Given the description of an element on the screen output the (x, y) to click on. 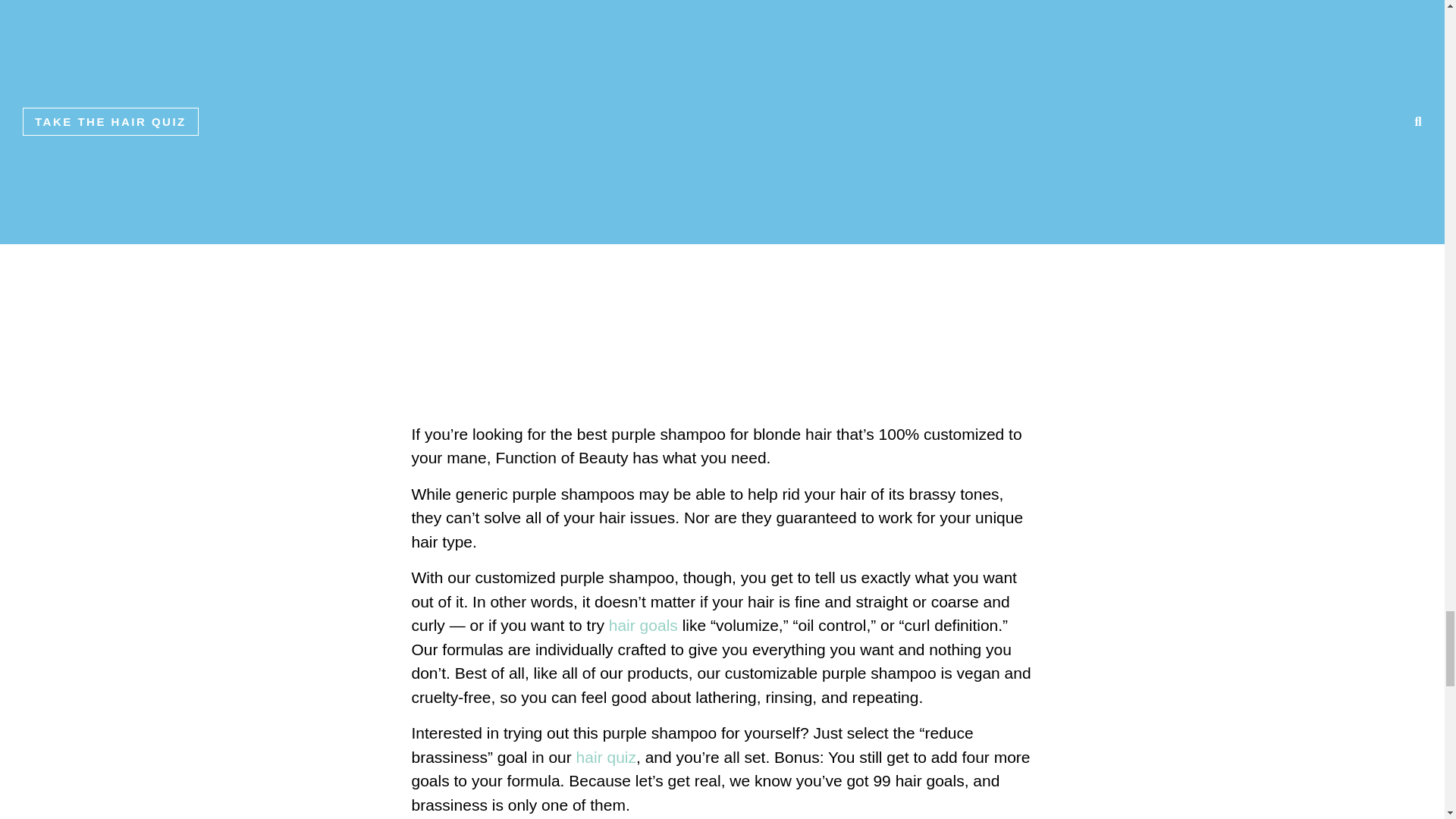
hair goals (643, 624)
hair quiz (606, 756)
